Given the description of an element on the screen output the (x, y) to click on. 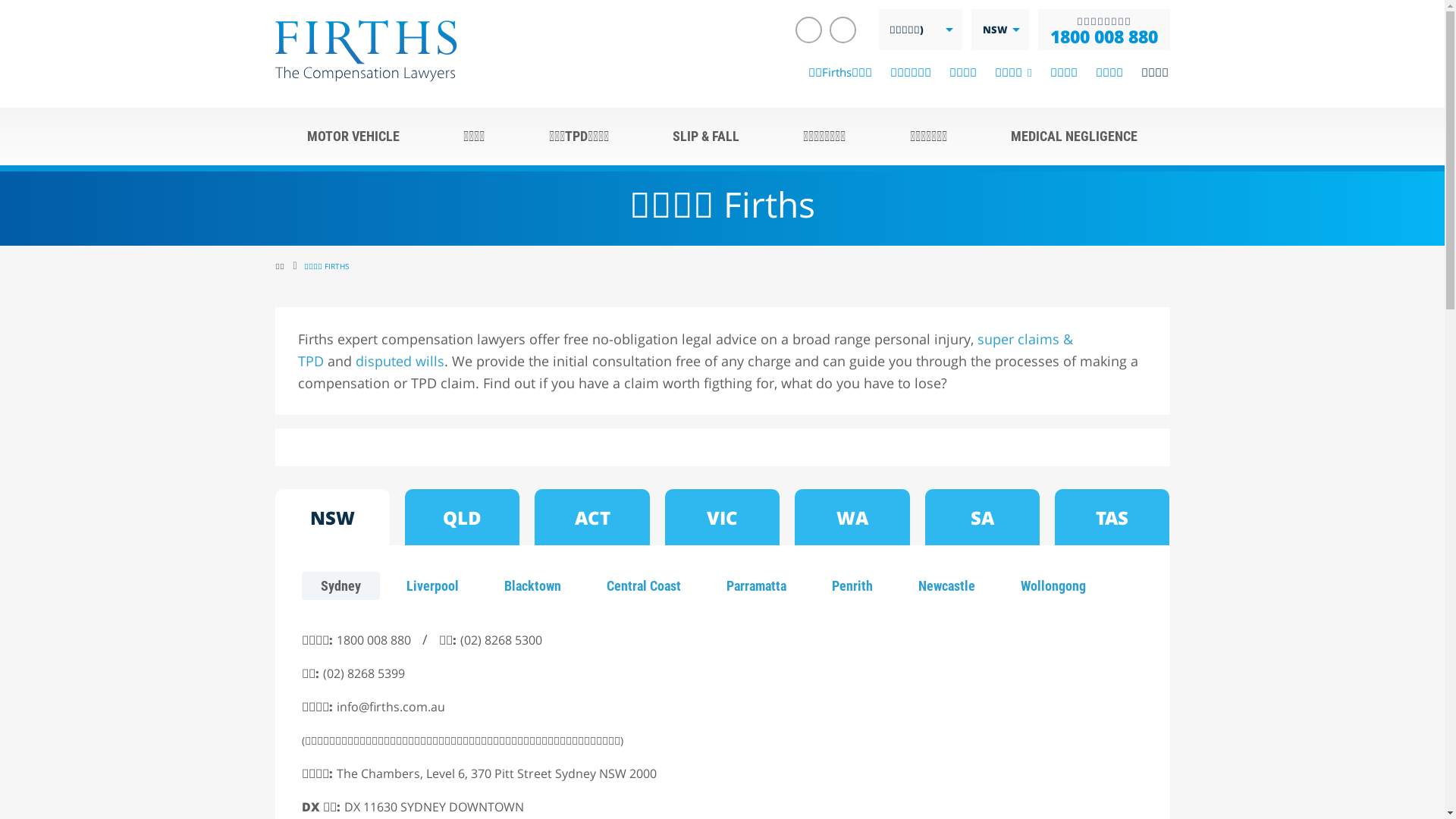
Sydney Element type: text (340, 585)
Parramatta Element type: text (755, 585)
MOTOR VEHICLE Element type: text (352, 136)
TAS Element type: text (1111, 517)
disputed wills Element type: text (398, 360)
QLD Element type: text (461, 517)
info@firths.com.au Element type: text (390, 706)
Newcastle Element type: text (946, 585)
super claims & TPD Element type: text (684, 349)
1800 008 880 Element type: text (373, 639)
(02) 8268 5399 Element type: text (363, 673)
(02) 8268 5300 Element type: text (500, 639)
Central Coast Element type: text (642, 585)
Liverpool Element type: text (431, 585)
Penrith Element type: text (851, 585)
MEDICAL NEGLIGENCE Element type: text (1074, 136)
Wollongong Element type: text (1052, 585)
SA Element type: text (982, 517)
VIC Element type: text (722, 517)
WA Element type: text (851, 517)
Blacktown Element type: text (532, 585)
NSW Element type: text (331, 517)
ACT Element type: text (591, 517)
SLIP & FALL Element type: text (705, 136)
